Given the description of an element on the screen output the (x, y) to click on. 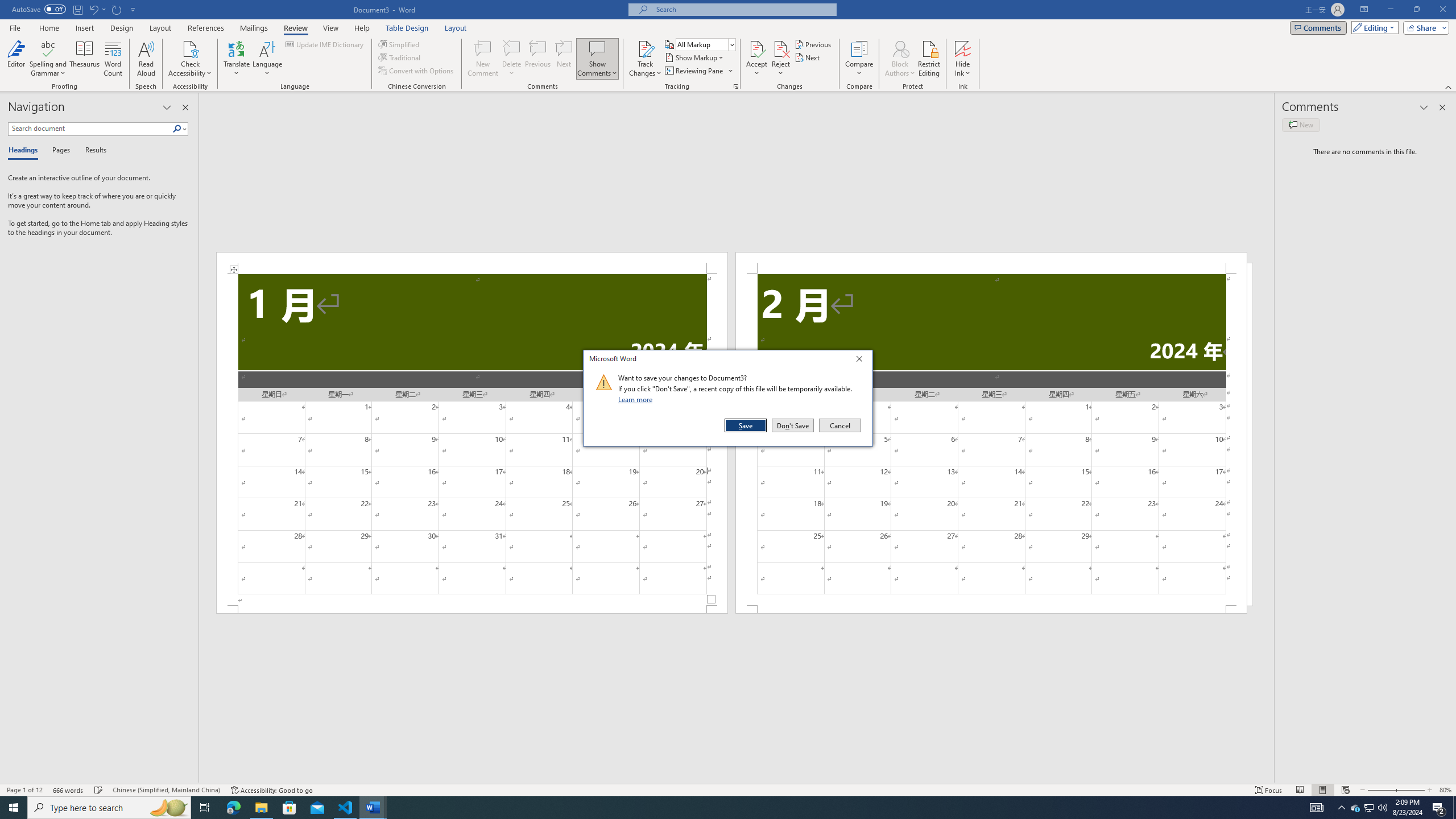
Track Changes (644, 48)
Simplified (400, 44)
Running applications (717, 807)
Learn more (636, 399)
Show Markup (695, 56)
Microsoft Edge (1368, 807)
